Given the description of an element on the screen output the (x, y) to click on. 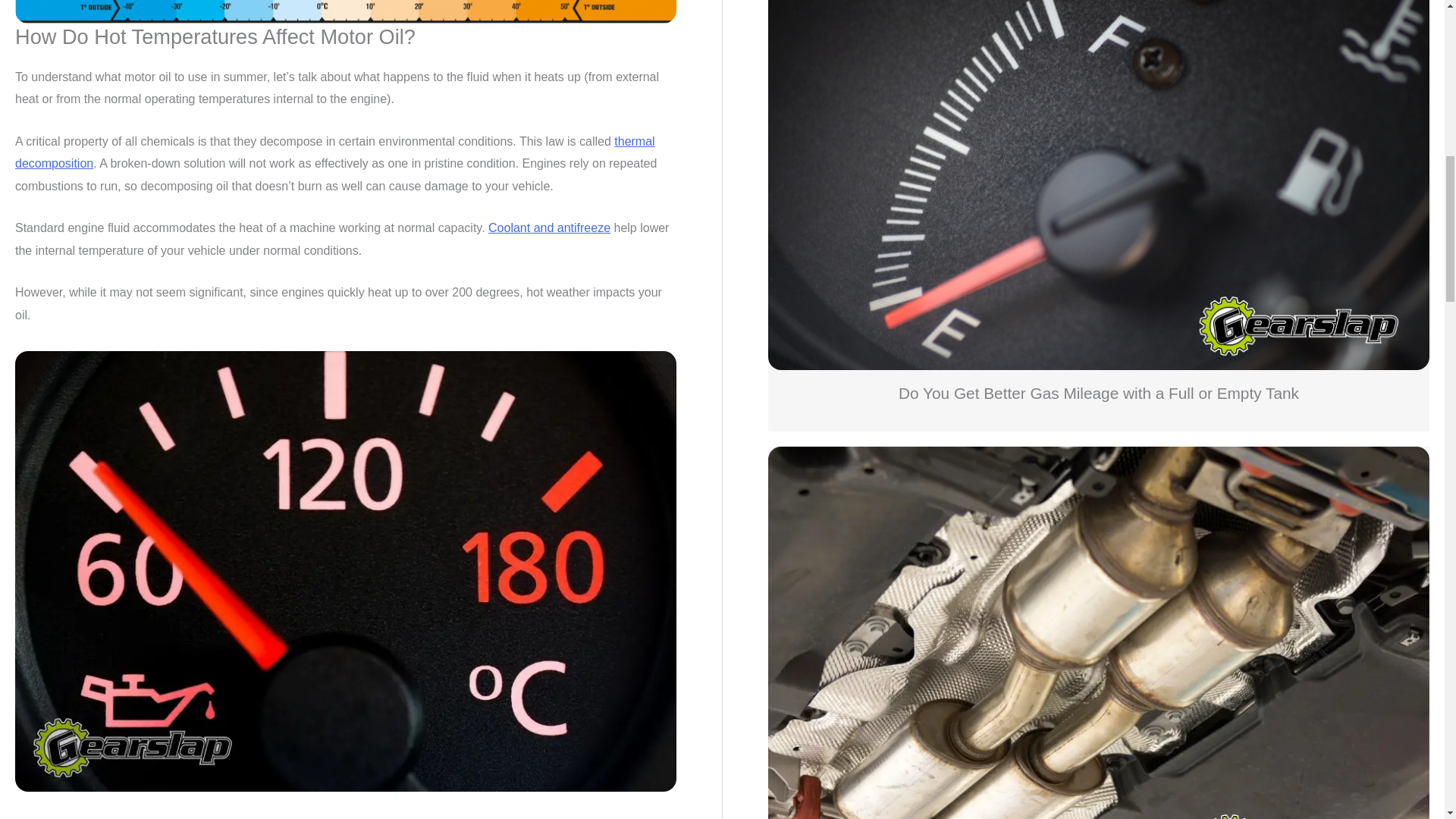
thermal decomposition (334, 152)
Coolant and antifreeze (548, 227)
